Given the description of an element on the screen output the (x, y) to click on. 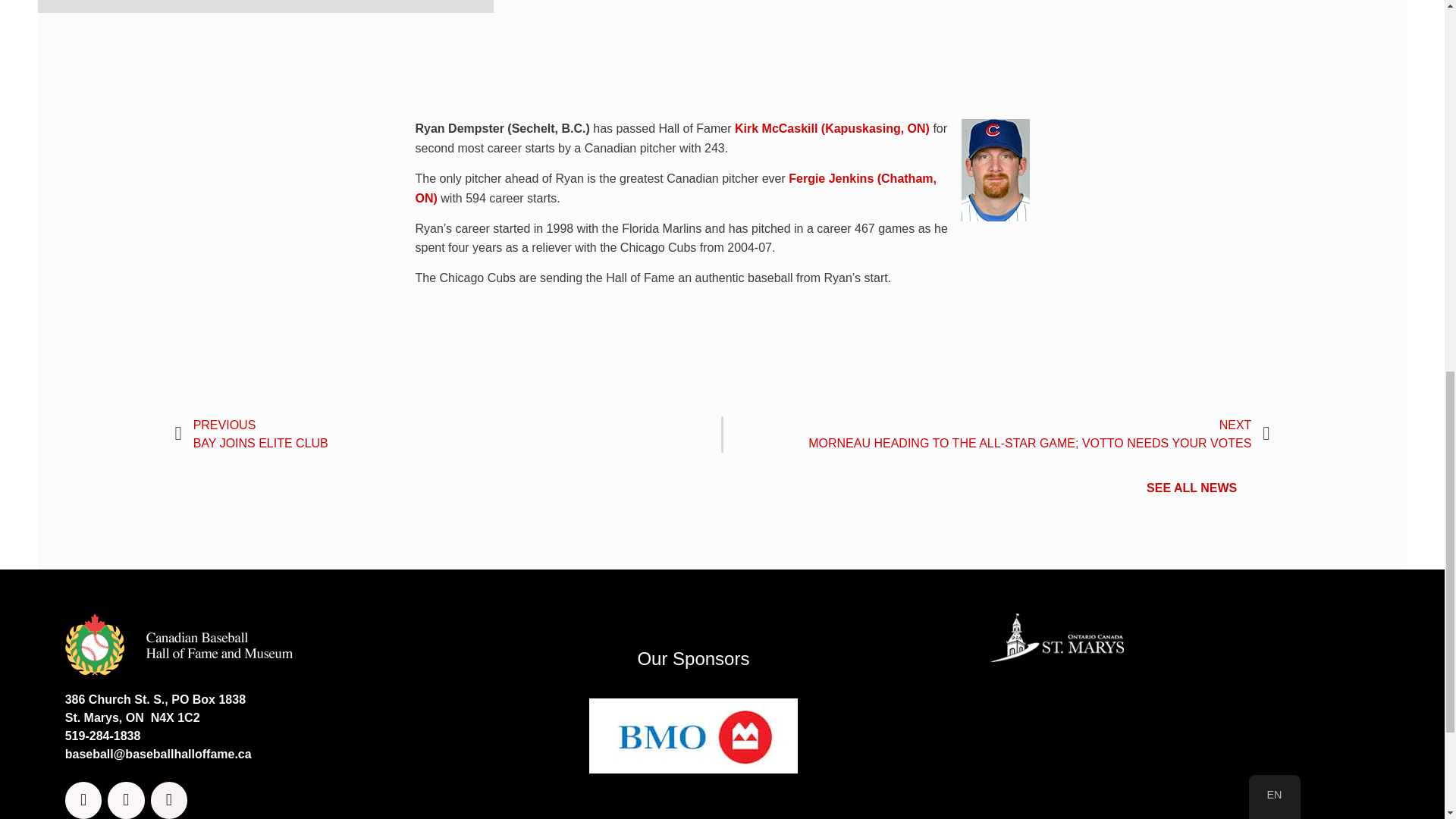
St Marys White (1055, 636)
386 Church St. South, St Marys, On (1174, 747)
